Given the description of an element on the screen output the (x, y) to click on. 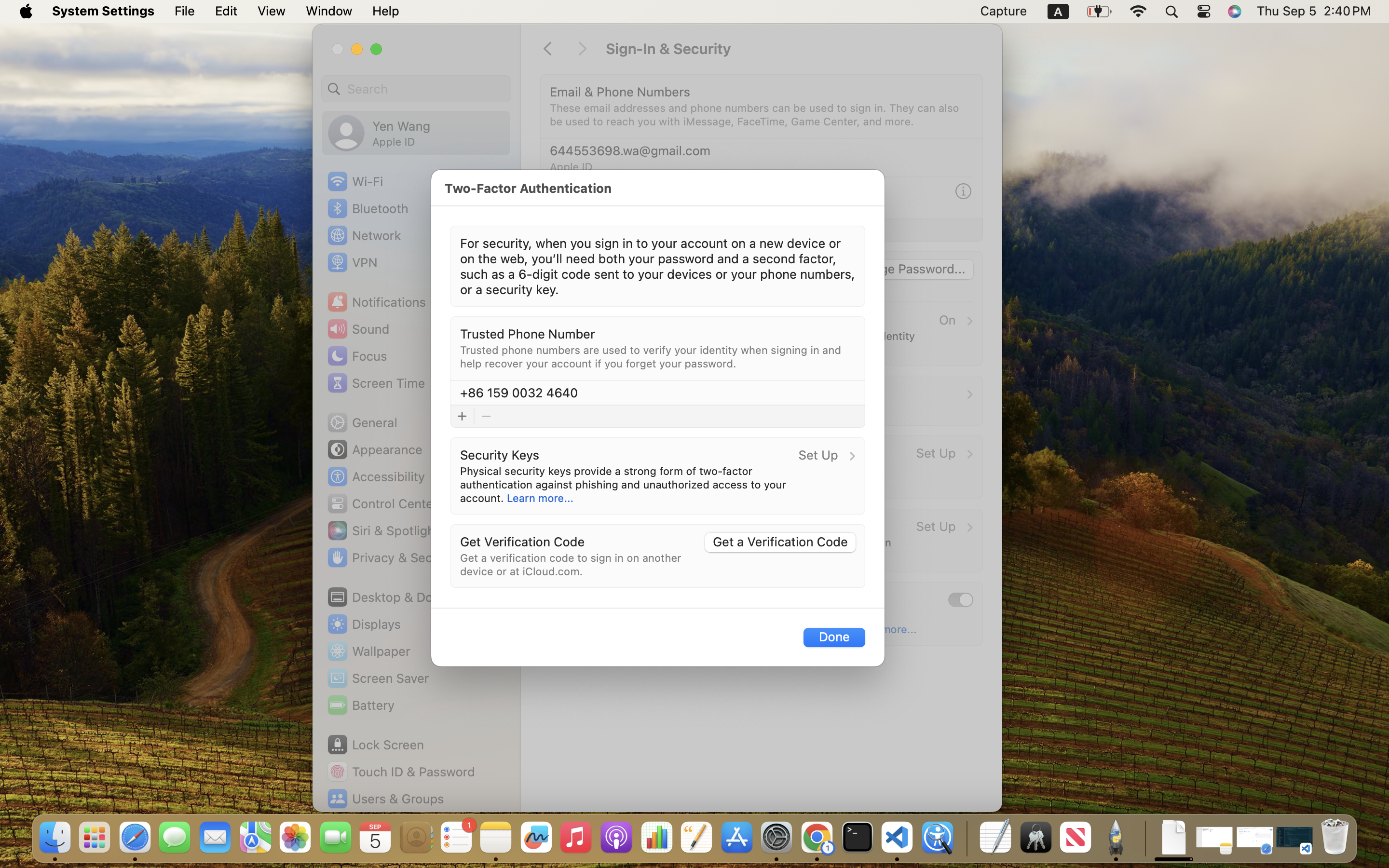
Appearance Element type: AXStaticText (374, 449)
Wi‑Fi Element type: AXStaticText (354, 180)
Yen Wang, Apple ID Element type: AXStaticText (378, 132)
Sound Element type: AXStaticText (357, 328)
Get a verification code to sign in on another device or at iCloud.com. Element type: AXStaticText (572, 563)
